Given the description of an element on the screen output the (x, y) to click on. 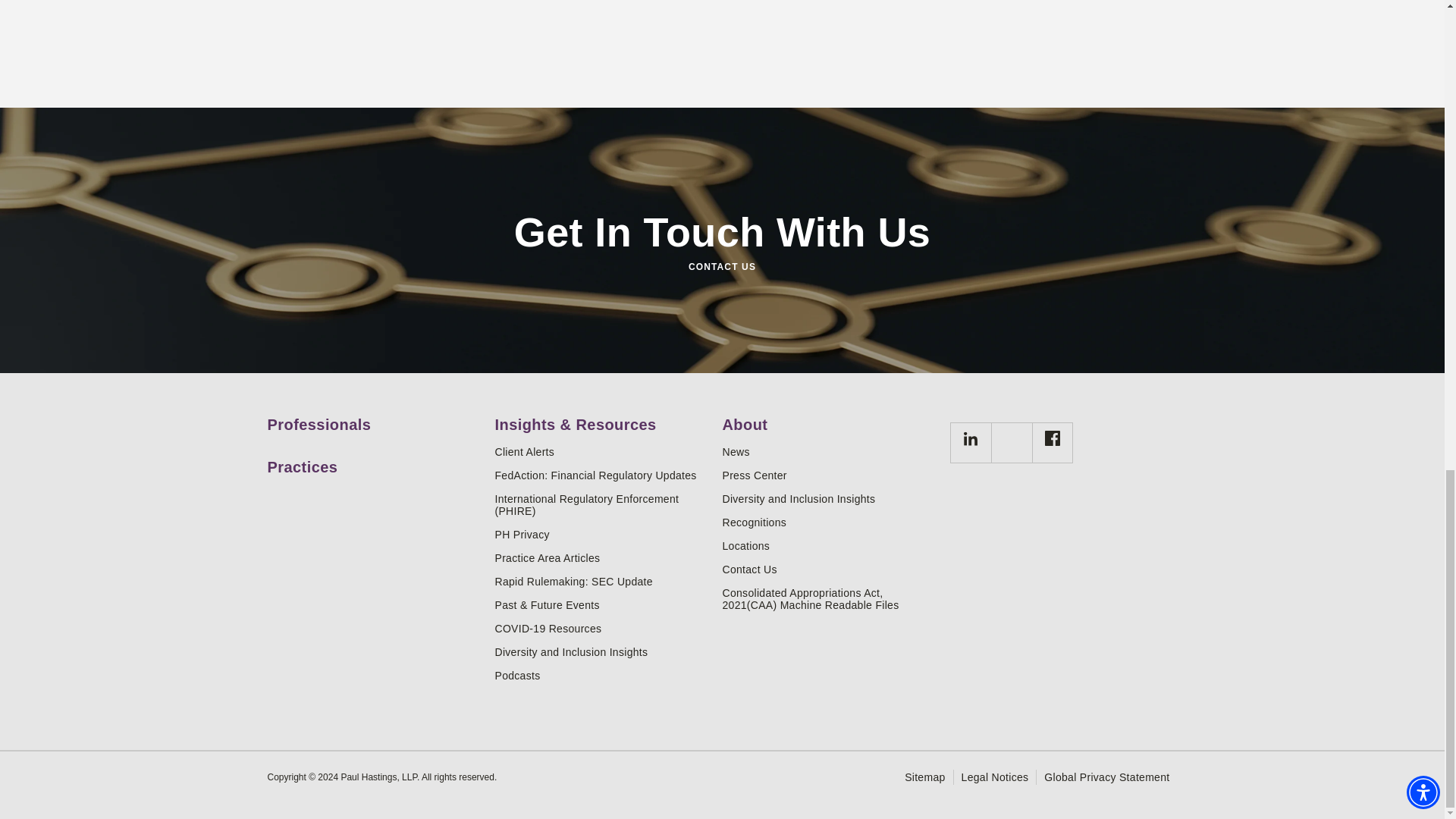
News (829, 451)
CB6A0679-7CD4-47AB-9AF9-079521319001Created with sketchtool. (969, 442)
Practices (374, 460)
Professionals (374, 418)
BC42128A-F0DE-4FE2-9372-6CDE6D4F5957Created with sketchtool. (1050, 442)
COVID-19 Resources (602, 628)
PH Privacy (602, 534)
Diversity and Inclusion Insights (829, 499)
Contact Us (829, 569)
Practice Area Articles (602, 558)
